Given the description of an element on the screen output the (x, y) to click on. 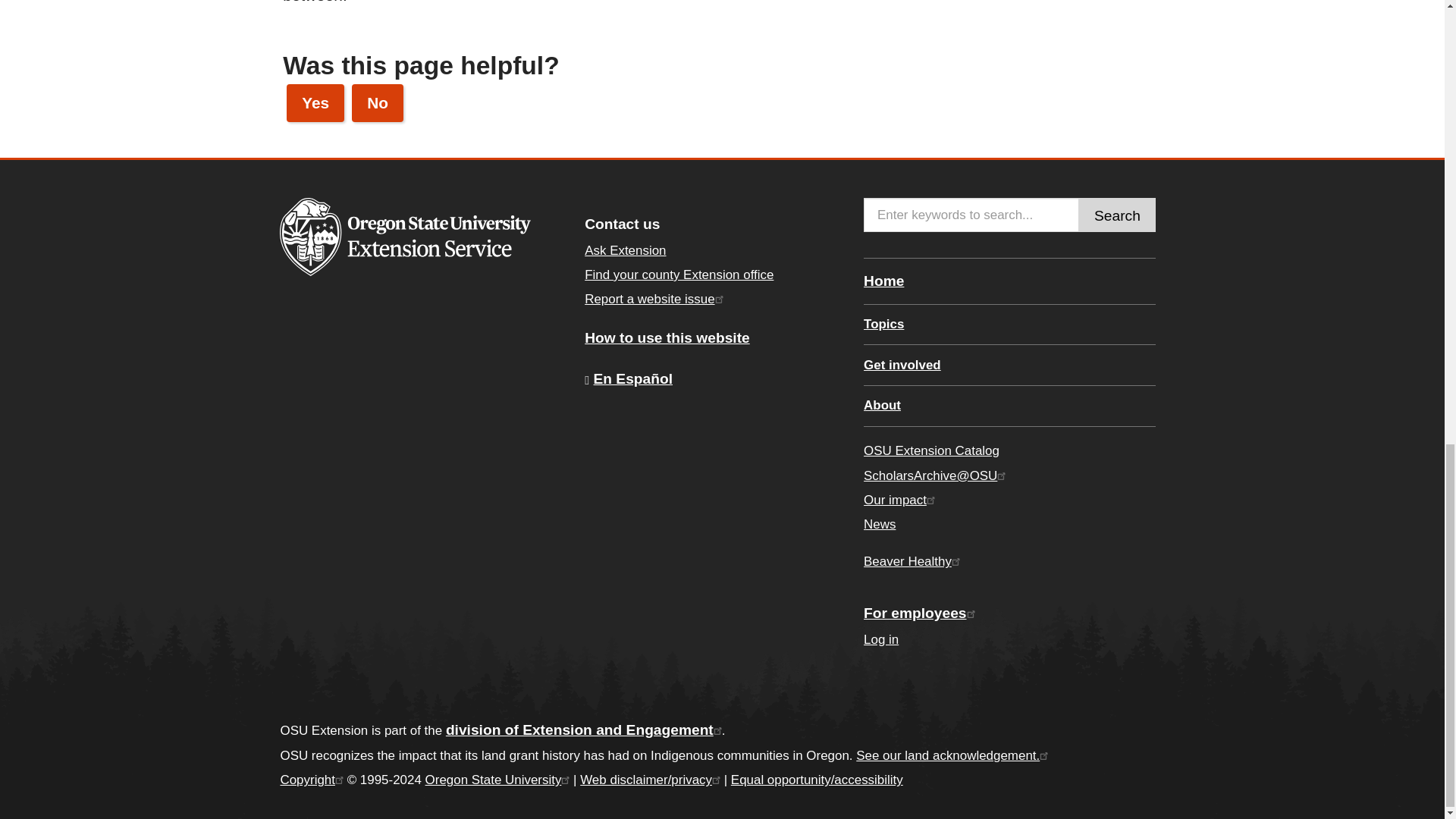
Enter keywords to search (970, 214)
